Given the description of an element on the screen output the (x, y) to click on. 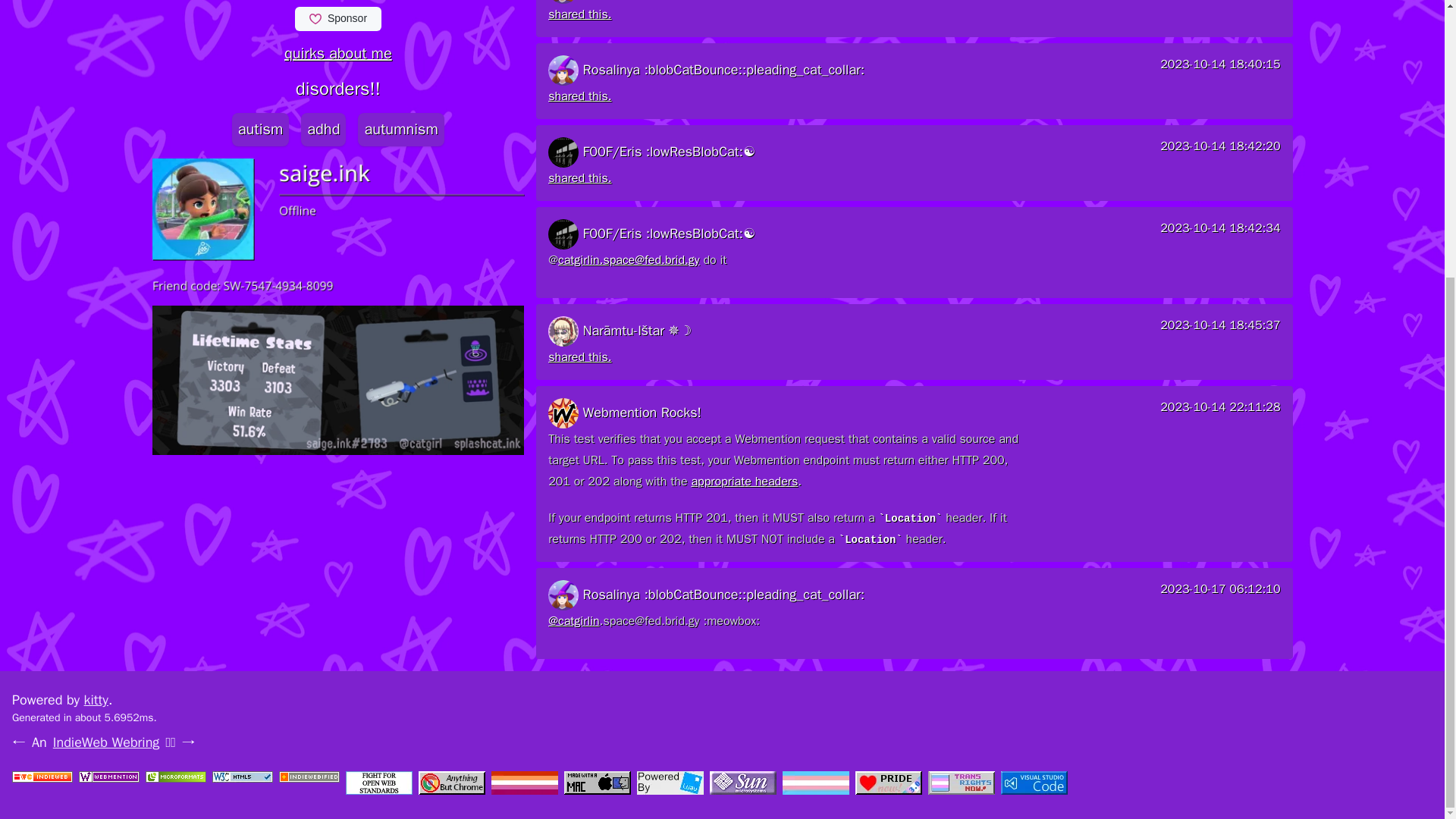
shared this. (579, 356)
2023-10-14 22:11:28 (1219, 413)
2023-10-14 18:45:37 (1219, 331)
2023-10-14 18:42:34 (1219, 234)
2023-10-14 18:42:20 (1219, 152)
appropriate headers (743, 481)
2023-10-14 18:40:07 (1219, 2)
shared this. (579, 177)
2023-10-14 18:40:15 (1219, 70)
quirks about me (337, 53)
